Given the description of an element on the screen output the (x, y) to click on. 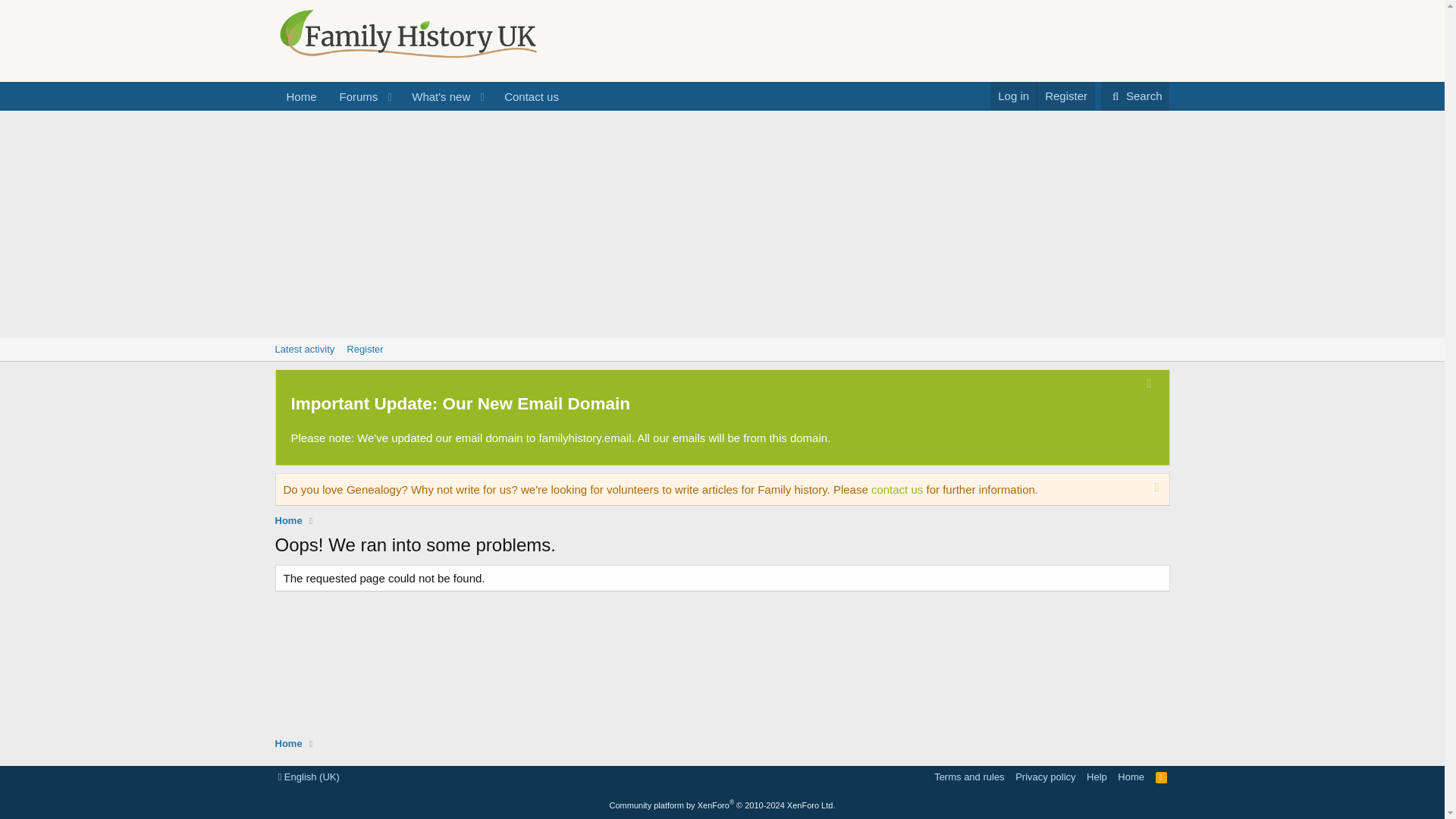
Help (1096, 776)
RSS (1161, 776)
Forums (354, 96)
What's new (435, 96)
Register (720, 349)
Search (364, 349)
Terms and rules (1135, 95)
Contact us (969, 776)
Latest activity (531, 96)
Register (303, 349)
contact us (1065, 95)
Home (896, 489)
Home (288, 743)
